Given the description of an element on the screen output the (x, y) to click on. 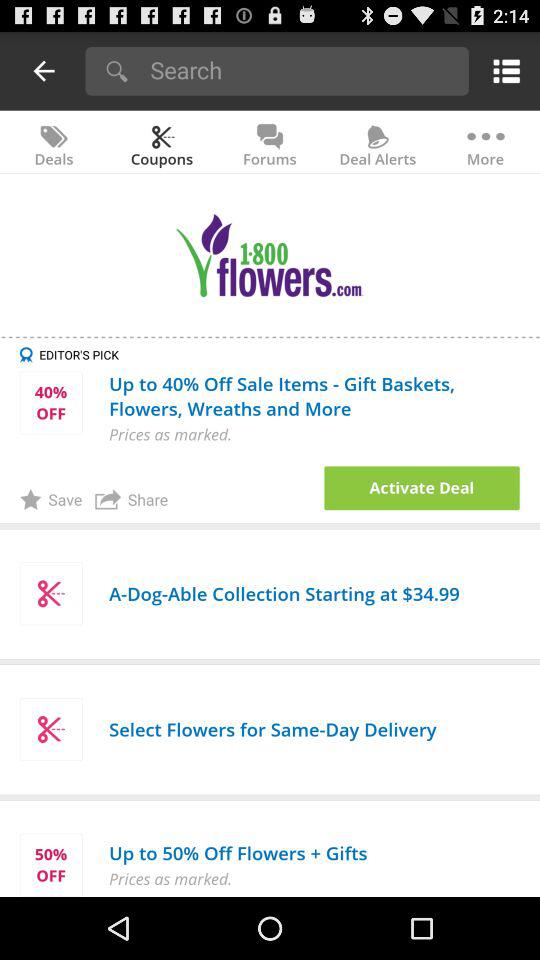
turn off icon to the right of share app (422, 488)
